Given the description of an element on the screen output the (x, y) to click on. 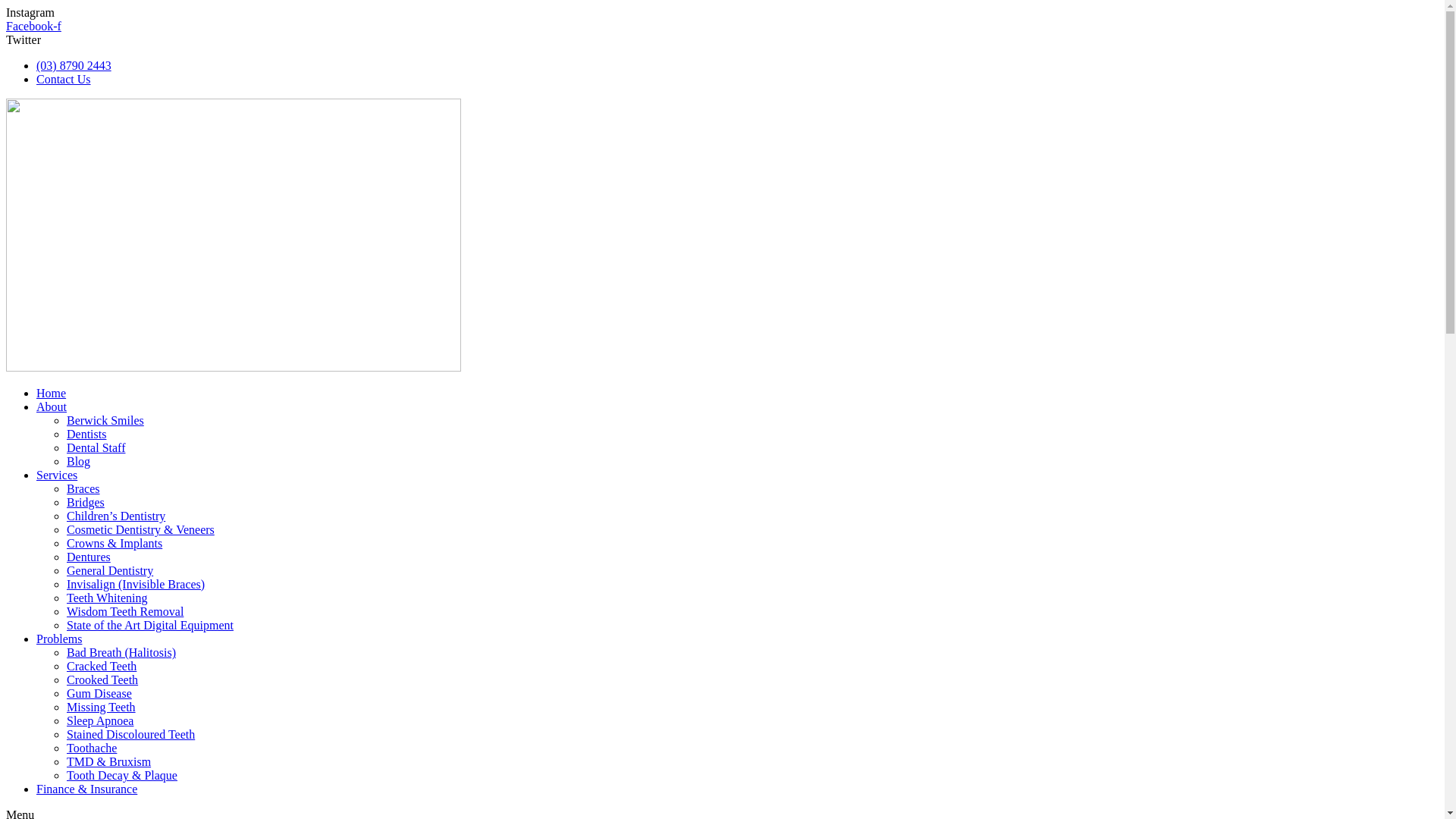
(03) 8790 2443 Element type: text (73, 65)
Dentures Element type: text (88, 556)
Crowns & Implants Element type: text (114, 542)
Crooked Teeth Element type: text (102, 679)
Blog Element type: text (78, 461)
Twitter Element type: text (23, 39)
Wisdom Teeth Removal Element type: text (124, 611)
About Element type: text (51, 406)
Facebook-f Element type: text (33, 25)
Cosmetic Dentistry & Veneers Element type: text (140, 529)
Home Element type: text (50, 392)
Braces Element type: text (83, 488)
Missing Teeth Element type: text (100, 706)
Instagram Element type: text (30, 12)
Services Element type: text (56, 474)
Finance & Insurance Element type: text (86, 788)
Bridges Element type: text (85, 501)
Teeth Whitening Element type: text (106, 597)
Problems Element type: text (58, 638)
Stained Discoloured Teeth Element type: text (130, 734)
Dental Staff Element type: text (95, 447)
Sleep Apnoea Element type: text (99, 720)
Berwick Smiles Element type: text (105, 420)
Invisalign (Invisible Braces) Element type: text (135, 583)
Toothache Element type: text (91, 747)
State of the Art Digital Equipment Element type: text (149, 624)
Tooth Decay & Plaque Element type: text (121, 774)
General Dentistry Element type: text (109, 570)
Cracked Teeth Element type: text (101, 665)
Bad Breath (Halitosis) Element type: text (120, 652)
Dentists Element type: text (86, 433)
Contact Us Element type: text (63, 78)
Gum Disease Element type: text (98, 693)
TMD & Bruxism Element type: text (108, 761)
